Given the description of an element on the screen output the (x, y) to click on. 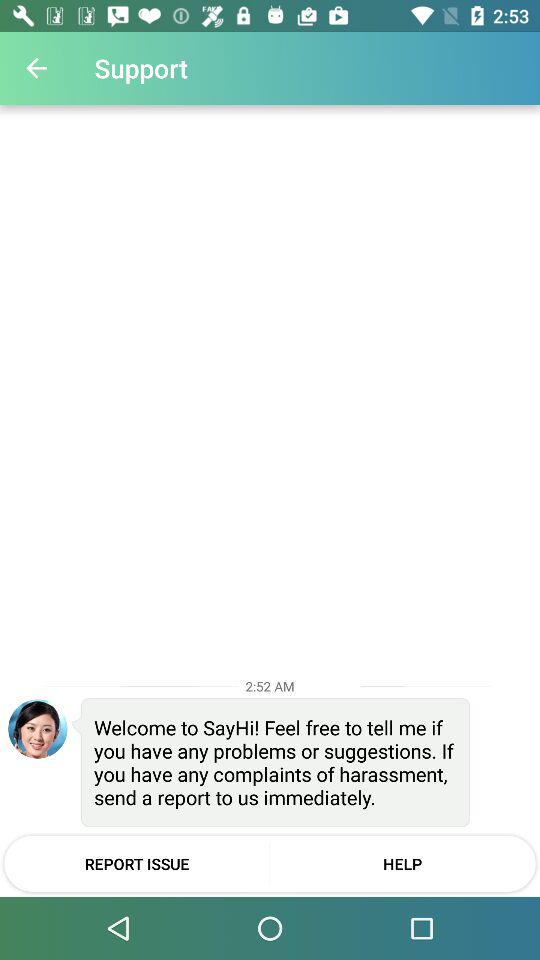
turn off the icon next to report issue icon (402, 863)
